Given the description of an element on the screen output the (x, y) to click on. 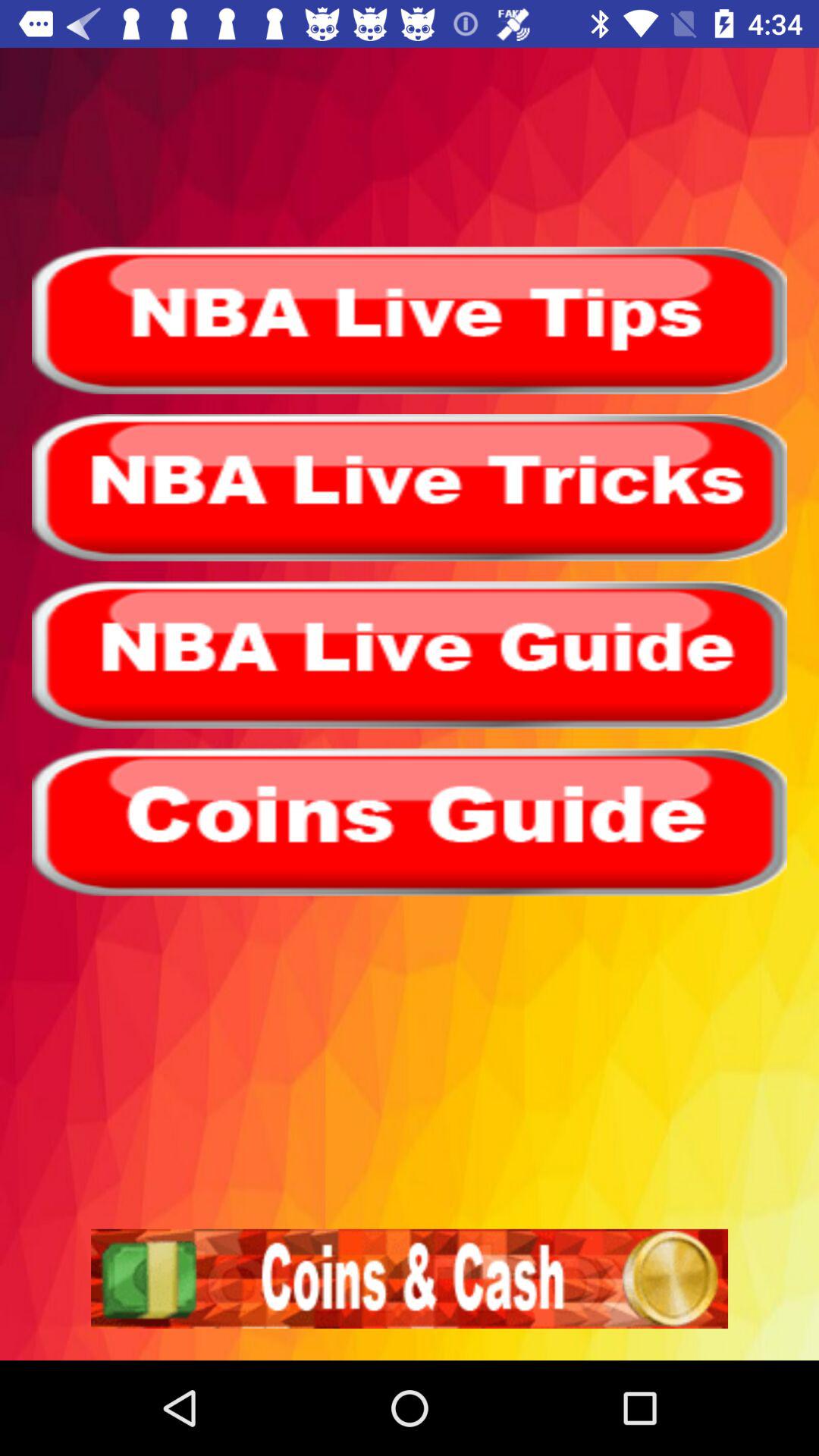
to go to details of nba live guide (409, 654)
